Given the description of an element on the screen output the (x, y) to click on. 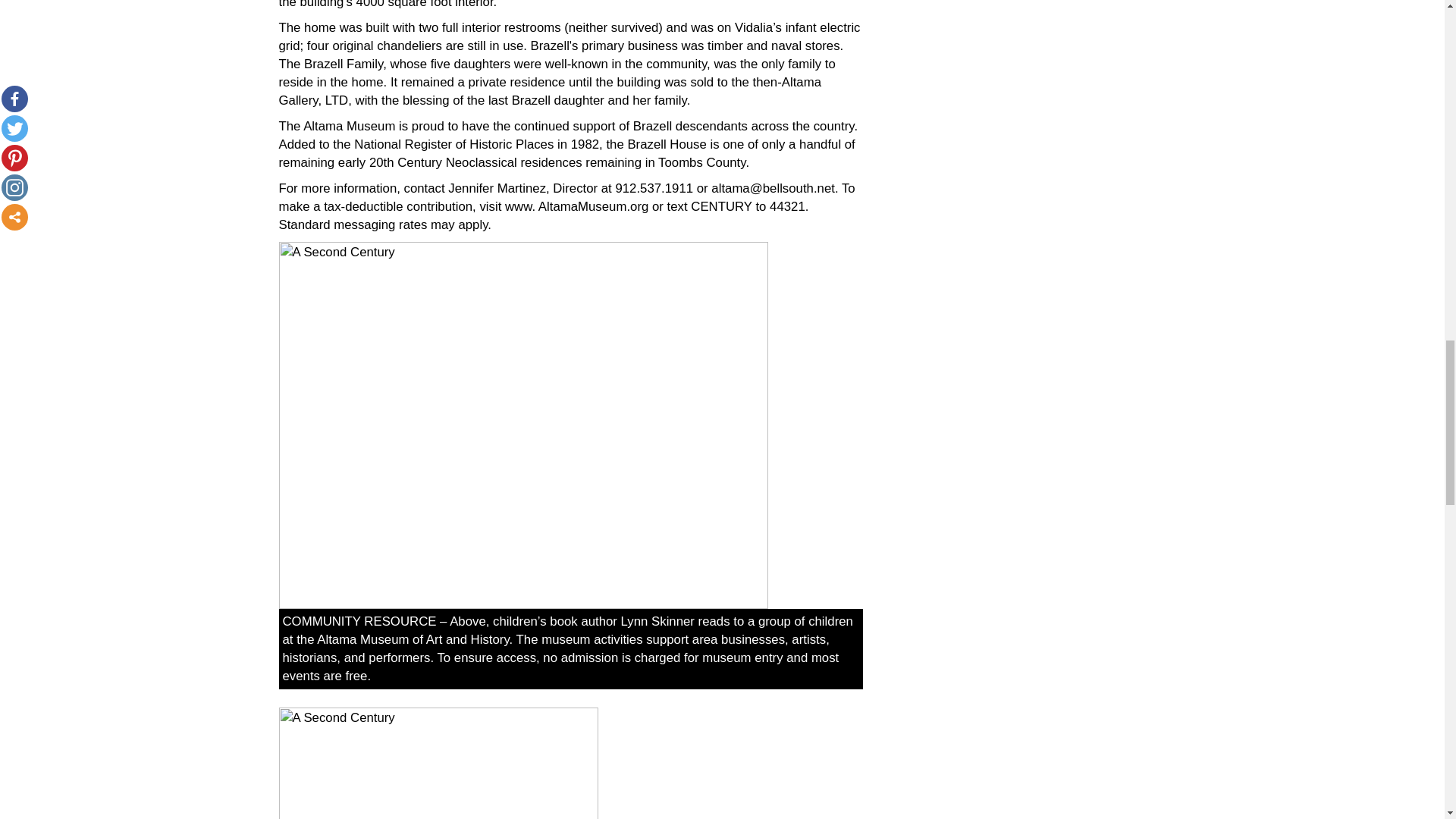
A Second Century (438, 763)
